Given the description of an element on the screen output the (x, y) to click on. 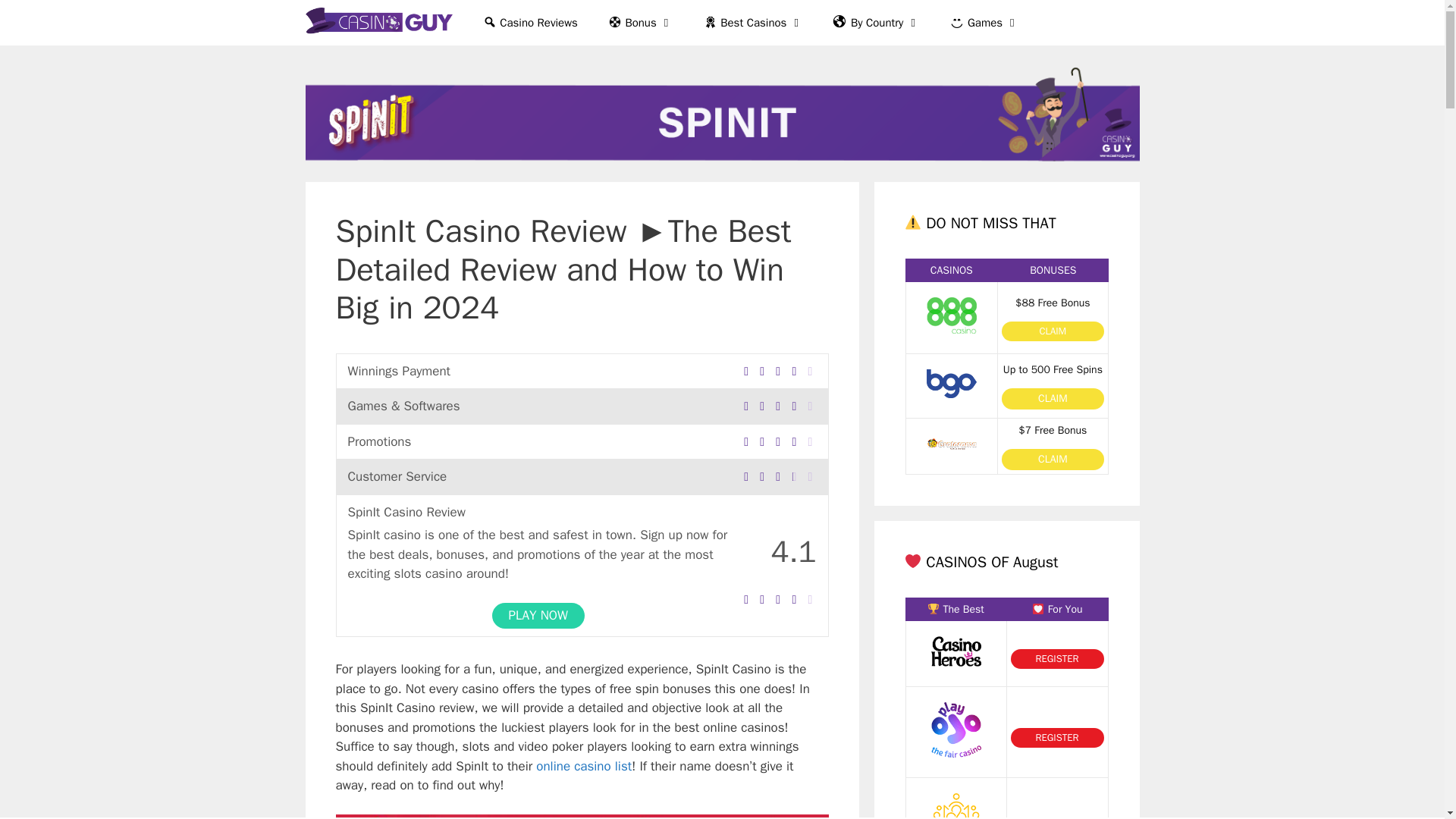
Games (983, 22)
Bonus (640, 22)
Best Casinos (753, 22)
PLAY NOW (538, 615)
Casino Reviews (529, 22)
online casino list (583, 765)
By Country (876, 22)
casinoguy.org (377, 22)
casinoguy.org (382, 22)
